Given the description of an element on the screen output the (x, y) to click on. 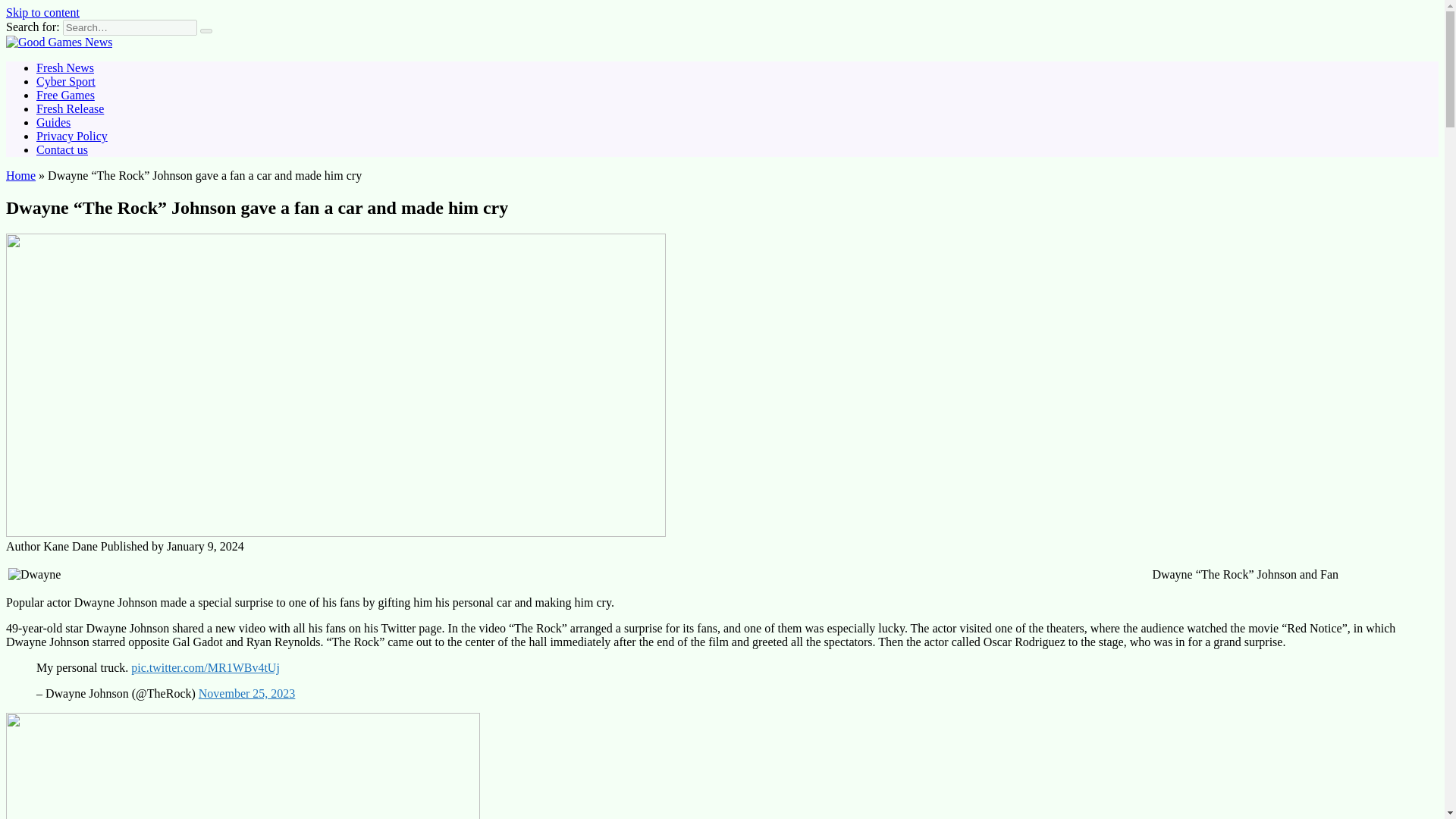
Fresh News (65, 67)
Home (19, 174)
Cyber Sport (66, 81)
Fresh Release (69, 108)
Free Games (65, 94)
November 25, 2023 (246, 693)
Skip to content (42, 11)
Guides (52, 122)
Privacy Policy (71, 135)
Contact us (61, 149)
